Given the description of an element on the screen output the (x, y) to click on. 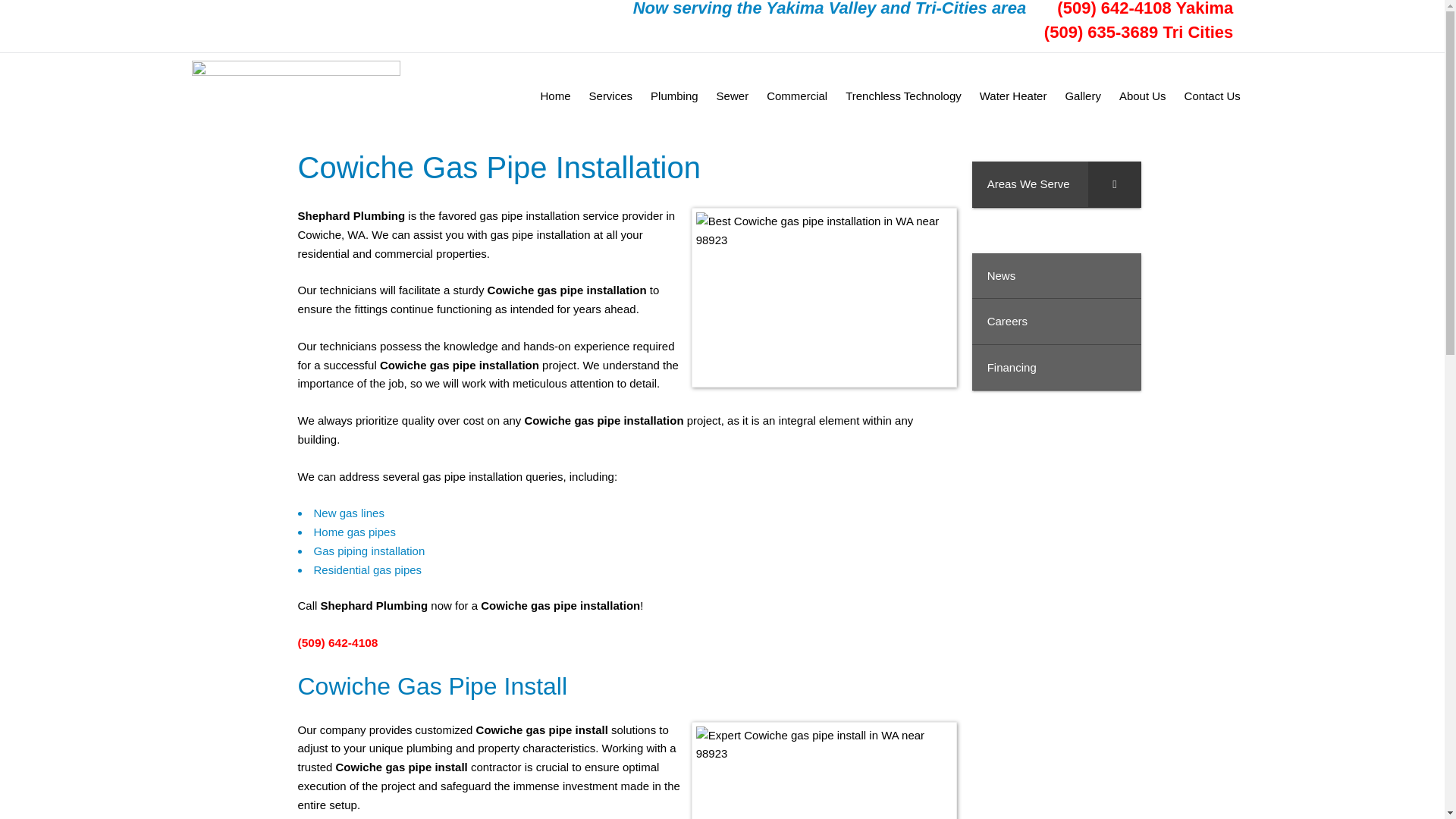
Commercial (796, 95)
Contact Us (1211, 95)
Plumbing (674, 95)
Cowiche Gas Pipe Install (823, 770)
Cowiche Gas Pipe Installation (823, 297)
Gallery (1082, 95)
Sewer (732, 95)
Services (610, 95)
Water Heater (1014, 95)
Areas We Serve (1056, 184)
Trenchless Technology (903, 95)
About Us (1141, 95)
Home (555, 95)
